Given the description of an element on the screen output the (x, y) to click on. 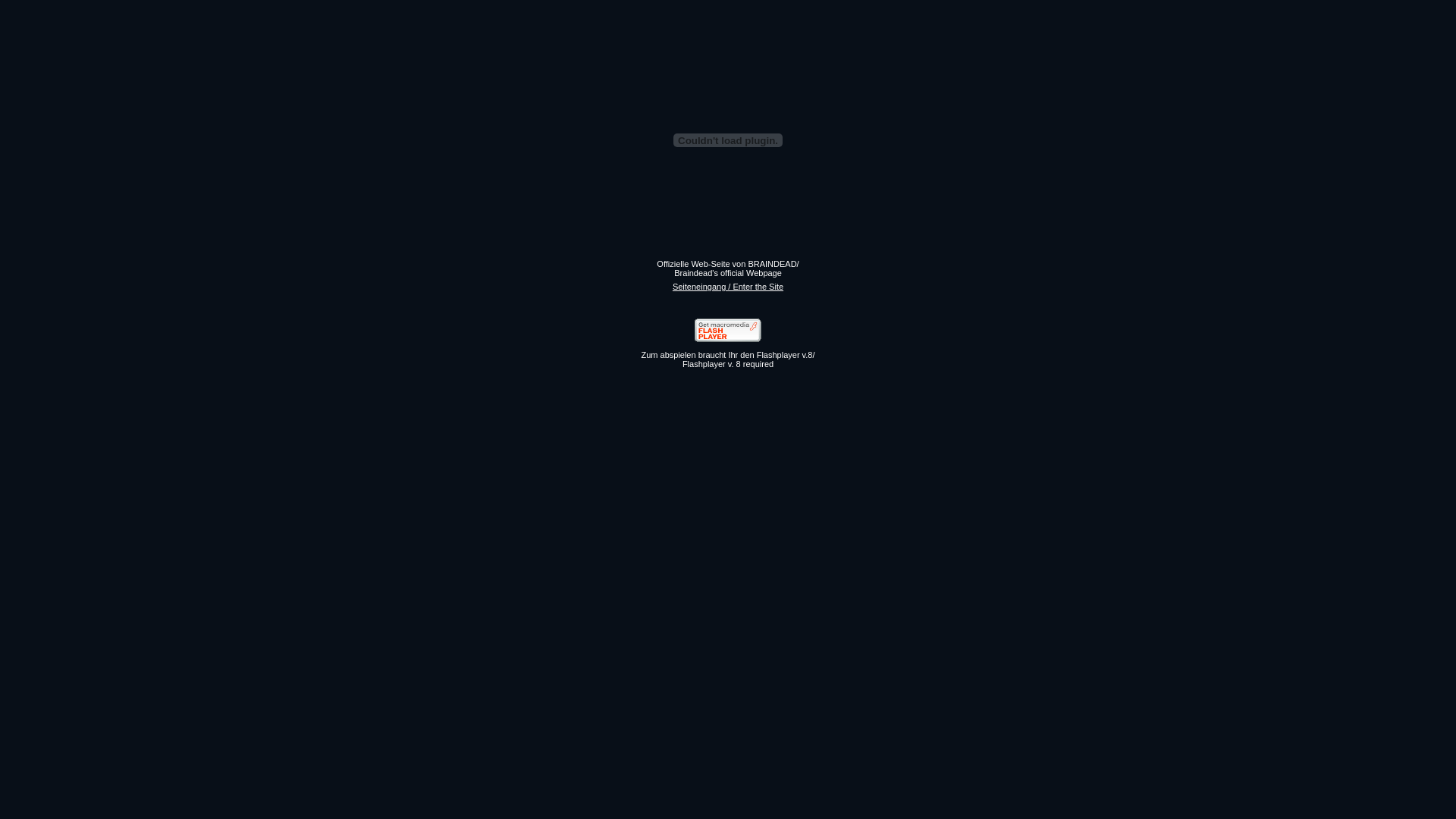
Seiteneingang / Enter the Site Element type: text (727, 286)
